Given the description of an element on the screen output the (x, y) to click on. 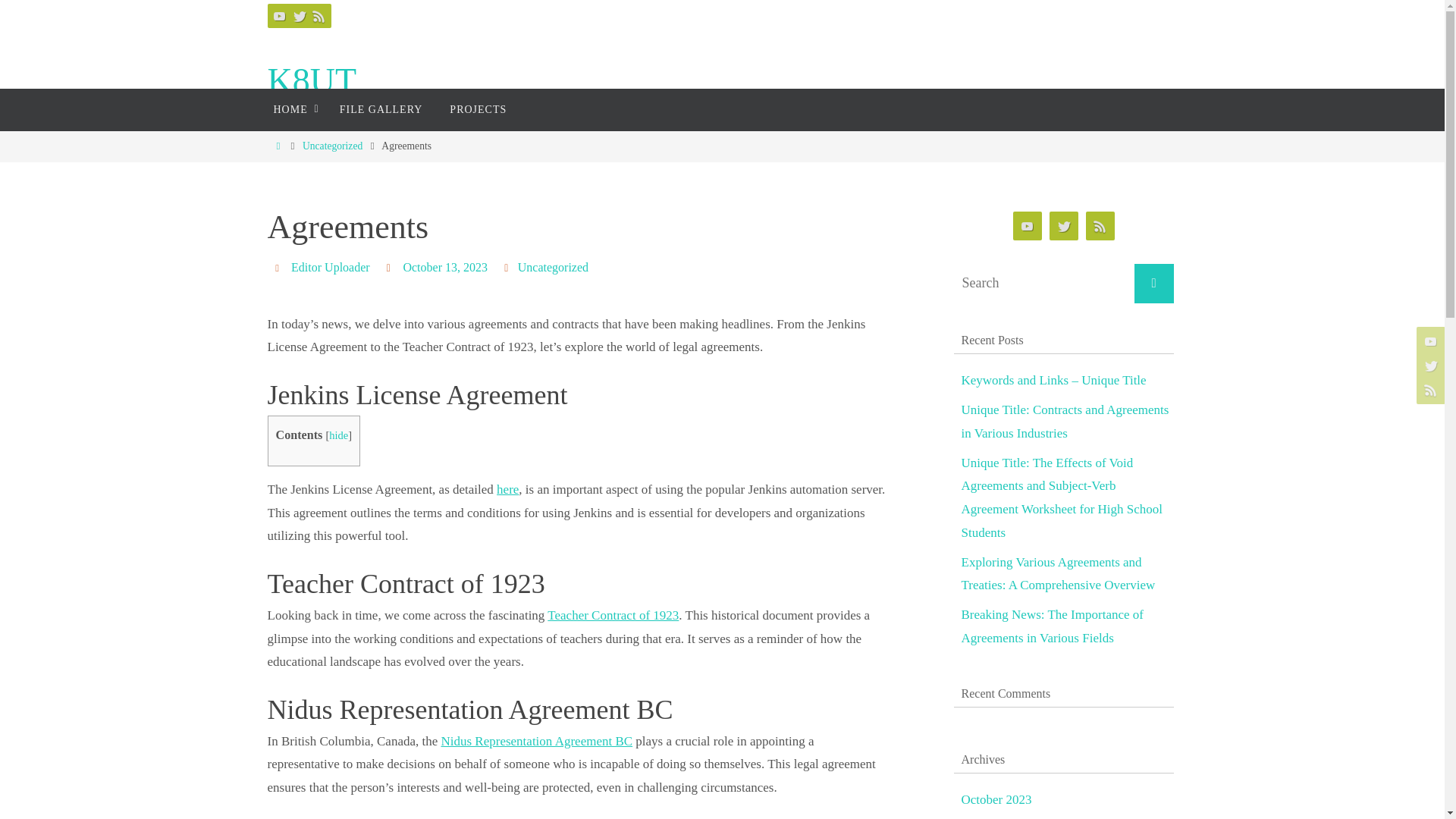
YouTube (1428, 340)
PROJECTS (477, 109)
K8UT (311, 81)
Categories (508, 267)
FILE GALLERY (381, 109)
hide (338, 435)
Twitter (1428, 365)
Home (277, 145)
October 13, 2023 (445, 267)
YouTube (1027, 225)
YouTube (278, 15)
View all posts by Editor Uploader (330, 267)
Twitter (298, 15)
